Given the description of an element on the screen output the (x, y) to click on. 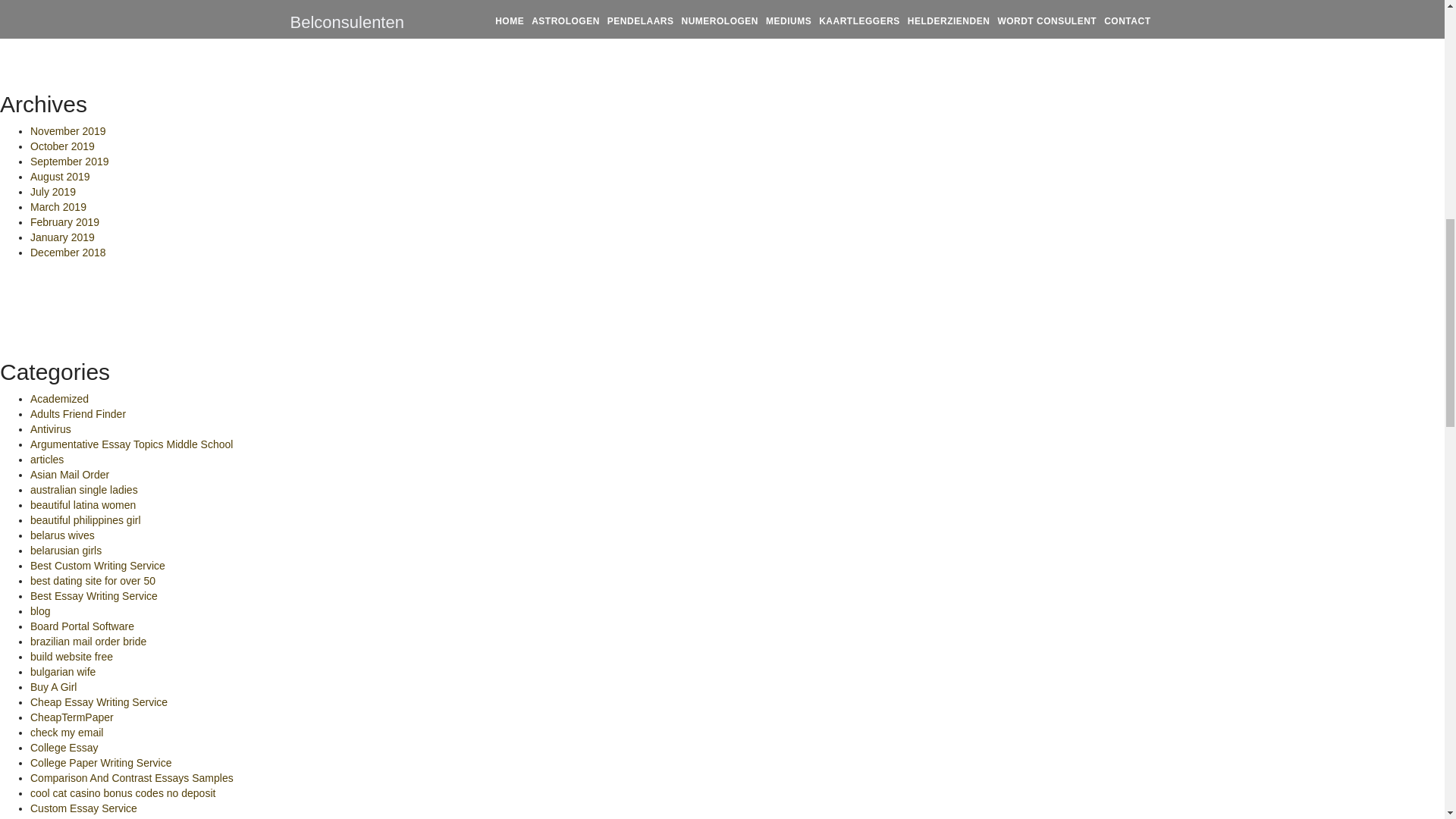
August 2019 (60, 176)
Antivirus (50, 428)
January 2019 (62, 236)
Adults Friend Finder (77, 413)
Academized (59, 398)
July 2019 (52, 191)
November 2019 (68, 131)
March 2019 (57, 206)
Asian Mail Order (69, 474)
australian single ladies (84, 490)
